Given the description of an element on the screen output the (x, y) to click on. 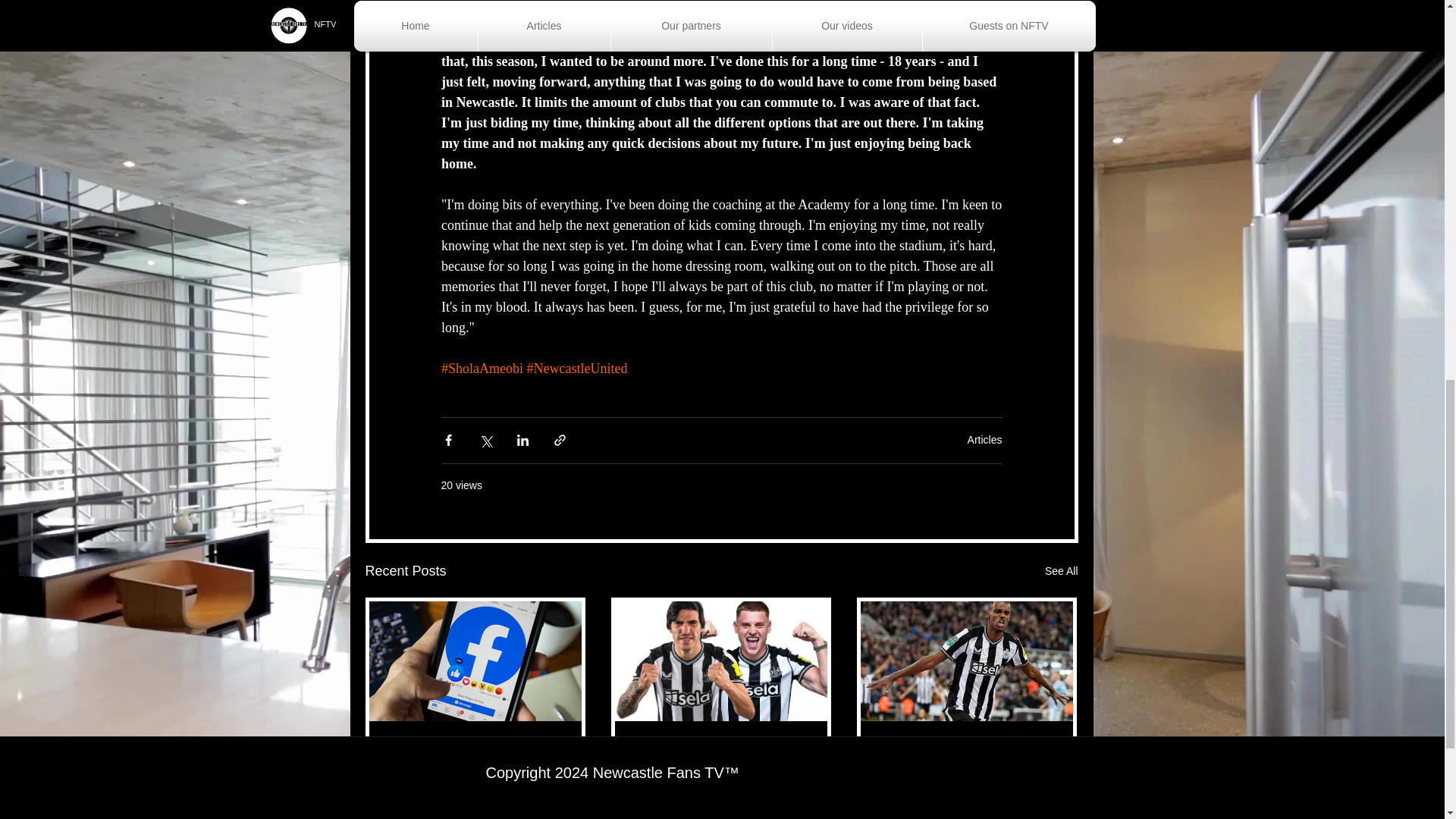
See All (1061, 571)
Articles (985, 439)
Could you offer something to Newcastle Fans TV? (474, 754)
